Given the description of an element on the screen output the (x, y) to click on. 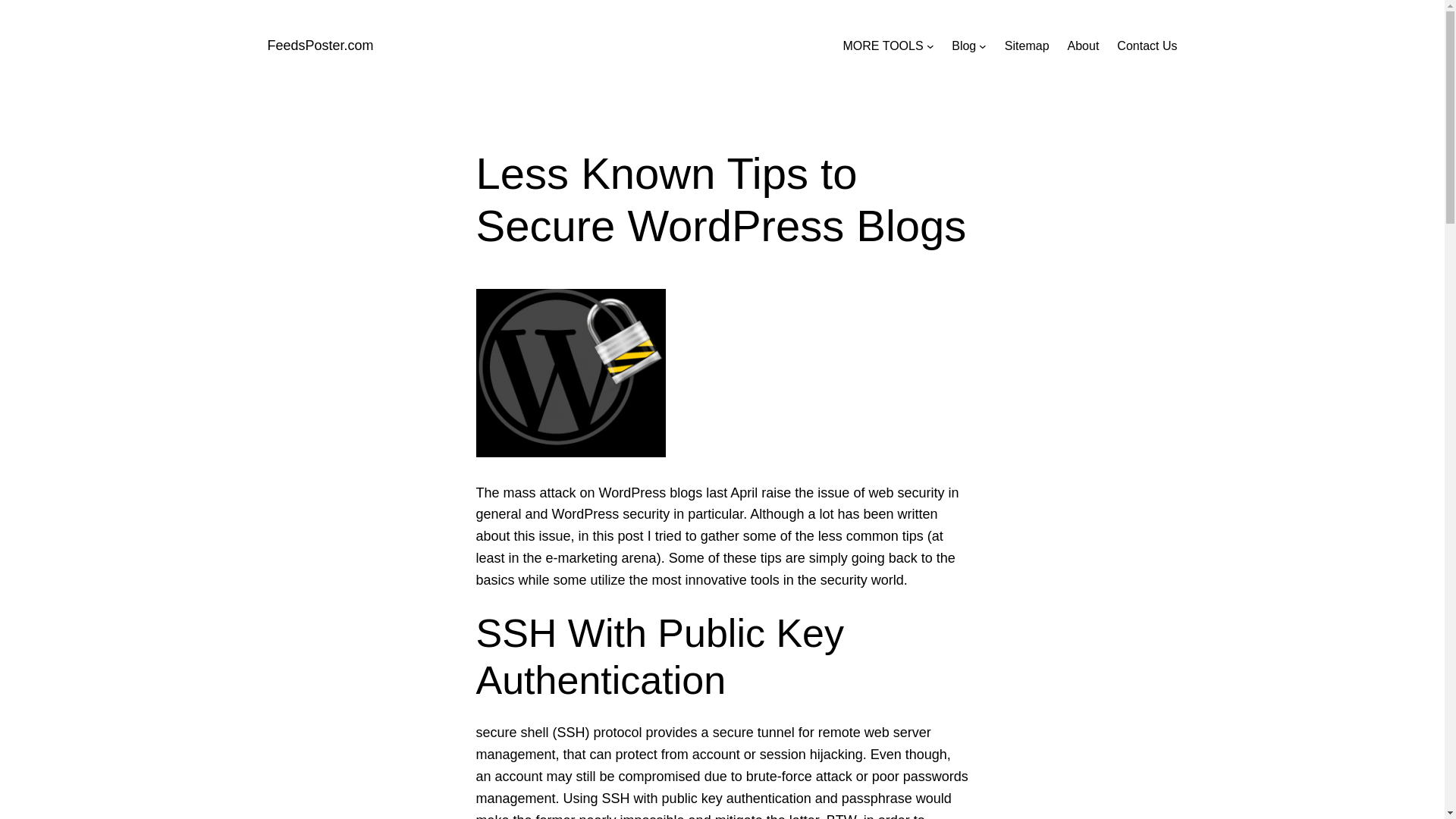
Contact Us (1146, 46)
Blog (963, 46)
MORE TOOLS (883, 46)
About (1083, 46)
Sitemap (1026, 46)
FeedsPoster.com (319, 45)
